Given the description of an element on the screen output the (x, y) to click on. 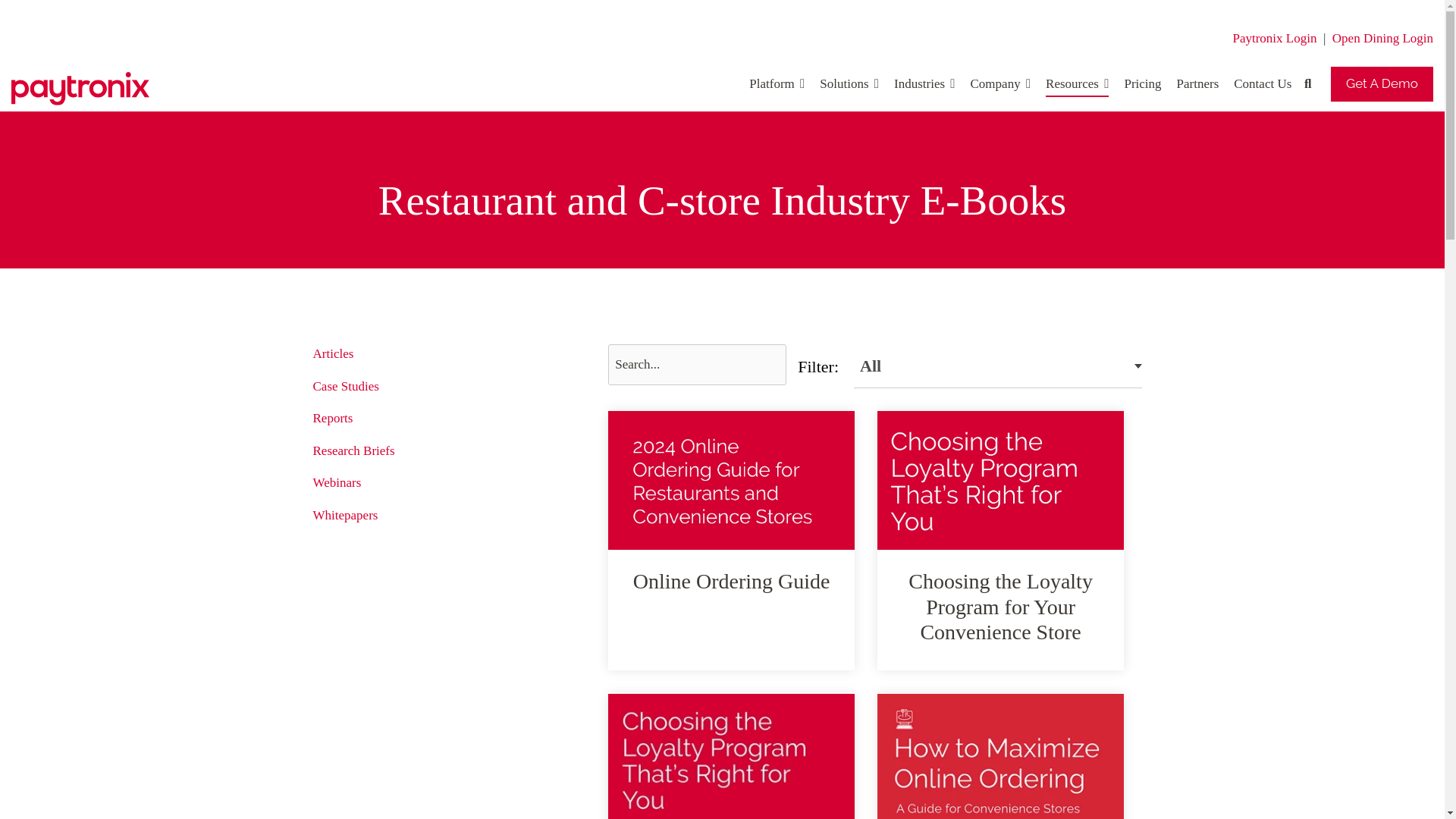
Platform (777, 84)
Company (1000, 84)
Paytronix Login (1273, 37)
paytronix-logo-color (80, 88)
Open Dining Login (1382, 37)
Solutions (849, 84)
Industries (924, 84)
